Given the description of an element on the screen output the (x, y) to click on. 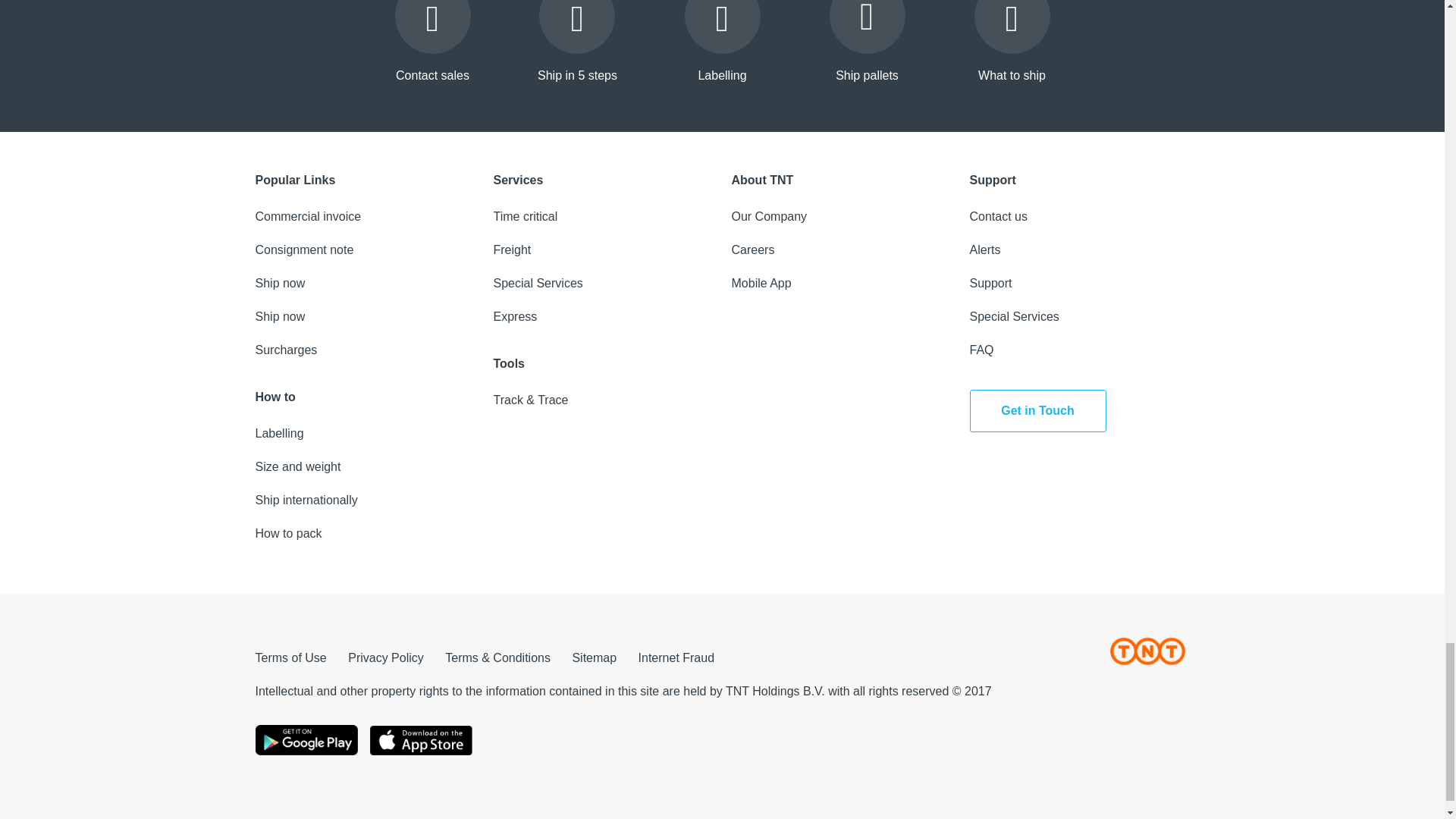
Our Company (768, 215)
Ship now (279, 316)
Ship in 5 steps (577, 43)
Labelling (278, 432)
Ship internationally (305, 499)
Freight (512, 249)
Consignment note (303, 249)
Commercial invoice (307, 215)
Ship now (279, 282)
How to pack (287, 533)
Express (515, 316)
Special Services (537, 282)
Time critical (525, 215)
Size and weight (297, 466)
Surcharges (285, 349)
